Given the description of an element on the screen output the (x, y) to click on. 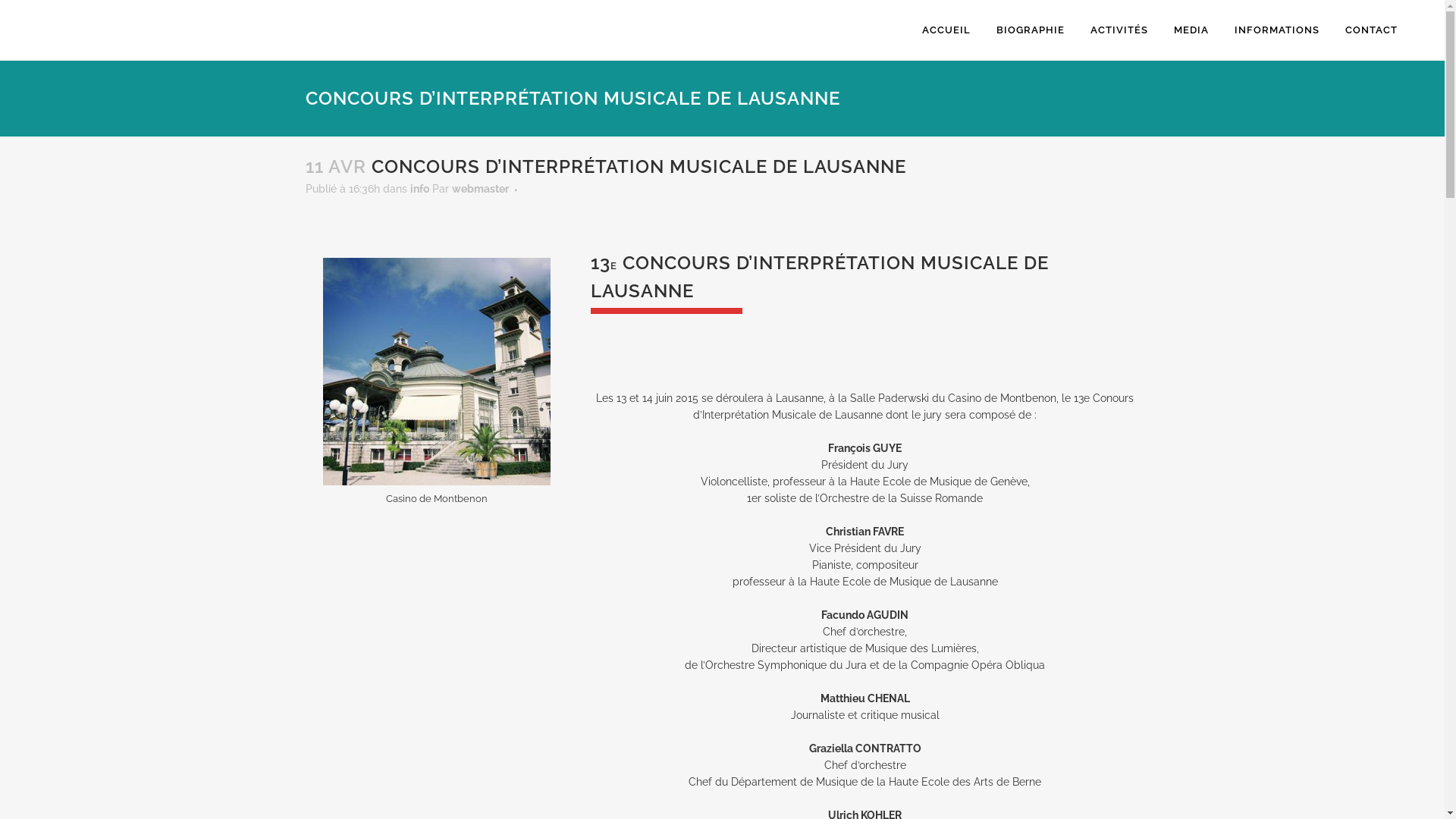
INFORMATIONS Element type: text (1276, 30)
CONTACT Element type: text (1371, 30)
BIOGRAPHIE Element type: text (1030, 30)
ACCUEIL Element type: text (946, 30)
info Element type: text (418, 188)
MEDIA Element type: text (1191, 30)
webmaster Element type: text (479, 188)
